Given the description of an element on the screen output the (x, y) to click on. 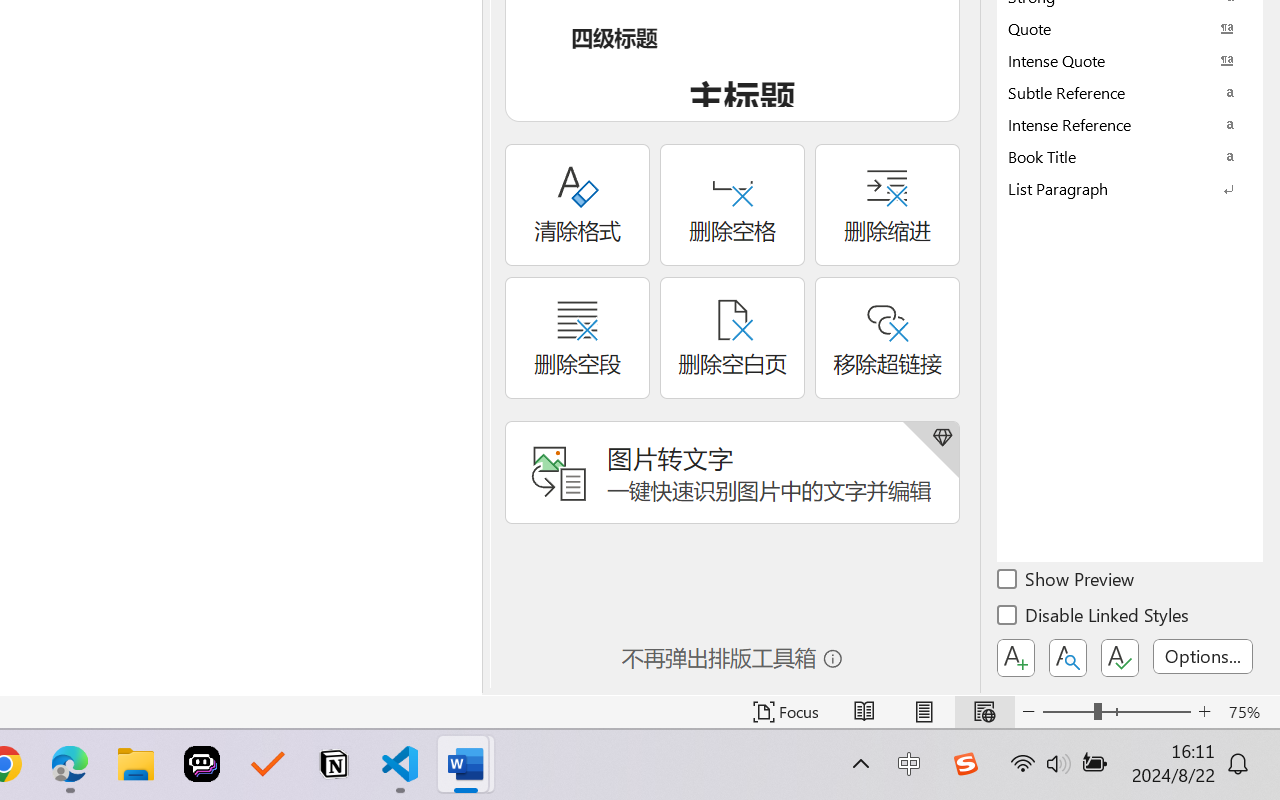
Zoom (1116, 712)
Intense Reference (1130, 124)
Focus  (786, 712)
Intense Quote (1130, 60)
